Given the description of an element on the screen output the (x, y) to click on. 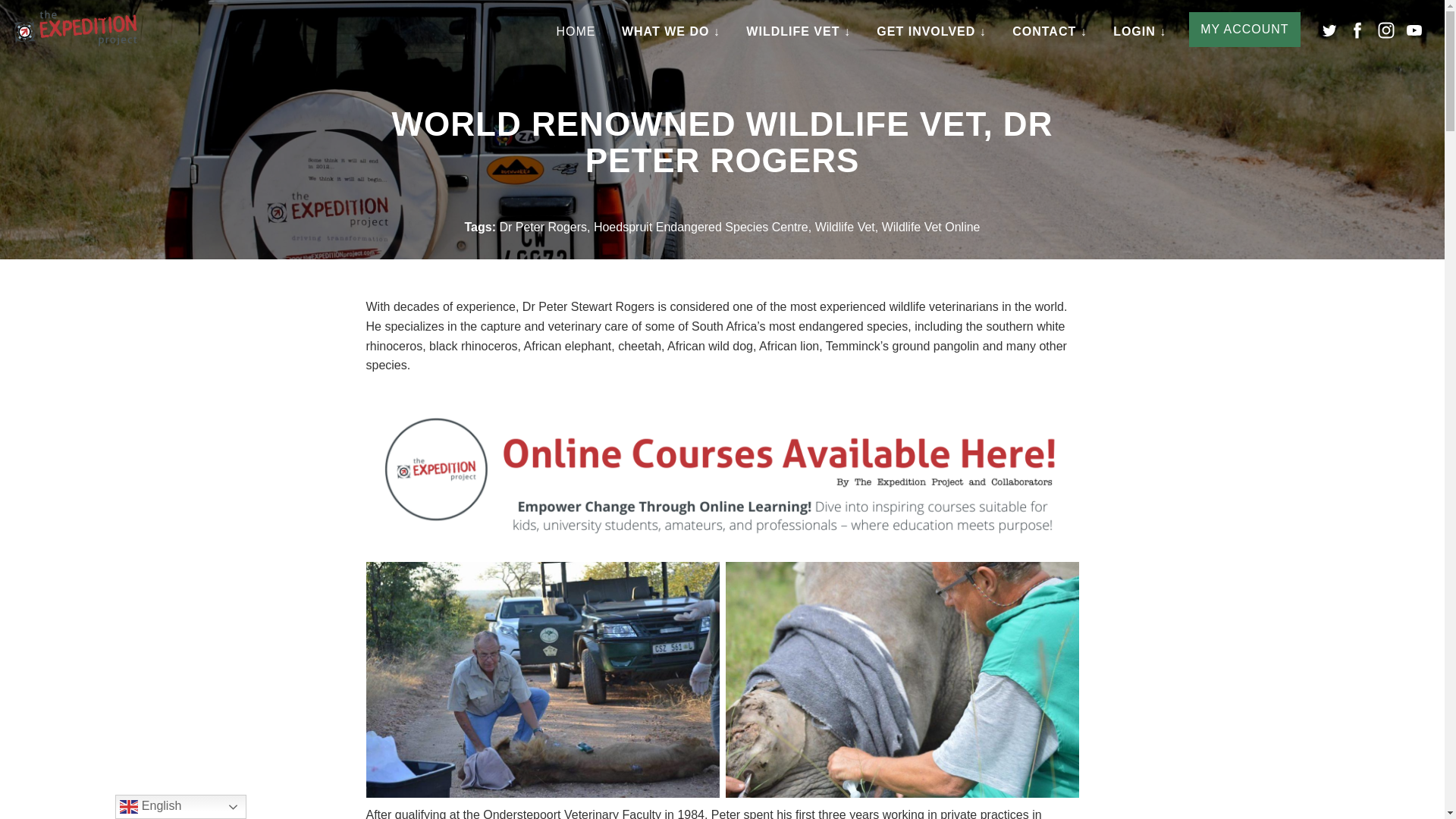
Hoedspruit Endangered Species Centre (701, 226)
MY ACCOUNT (1244, 29)
Dr Peter Rogers (542, 226)
HOME (574, 31)
Wildlife Vet (845, 226)
Wildlife Vet Online (930, 226)
